Given the description of an element on the screen output the (x, y) to click on. 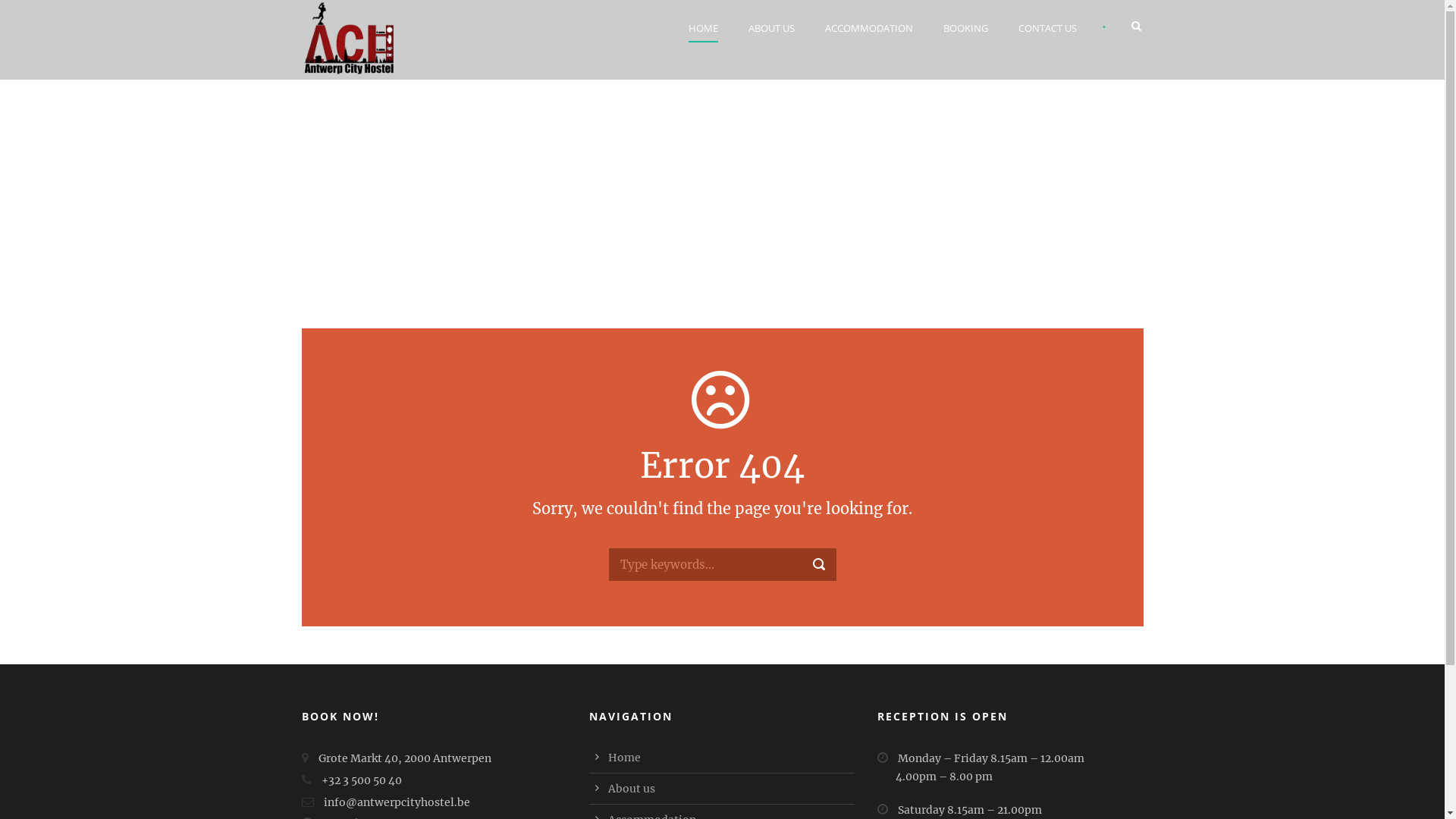
ABOUT US Element type: text (770, 28)
ACCOMMODATION Element type: text (868, 28)
HOME Element type: text (710, 28)
About us Element type: text (631, 788)
BOOKING Element type: text (965, 28)
CONTACT US Element type: text (1046, 28)
Home Element type: text (624, 757)
